Given the description of an element on the screen output the (x, y) to click on. 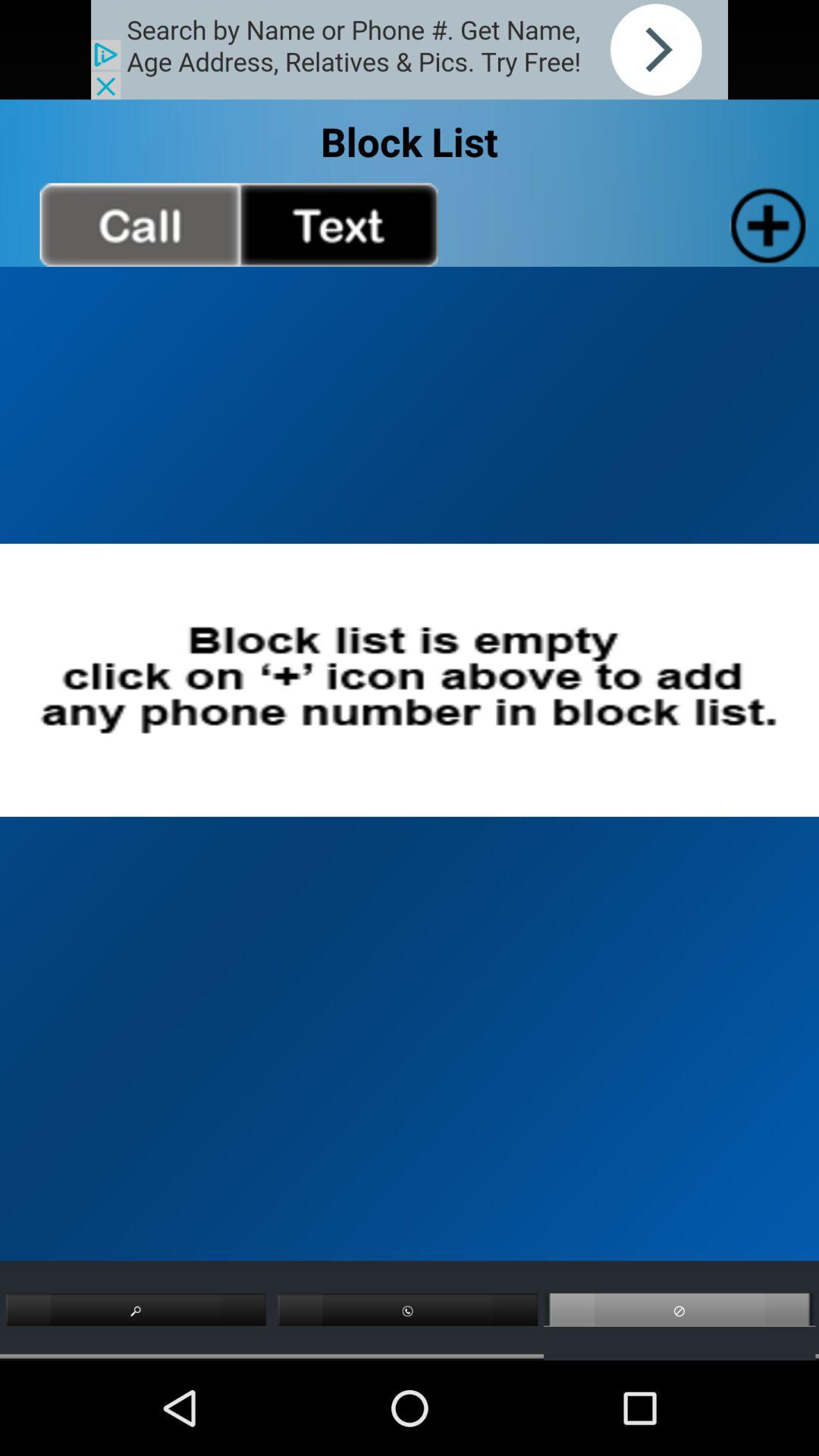
enter text (337, 224)
